Given the description of an element on the screen output the (x, y) to click on. 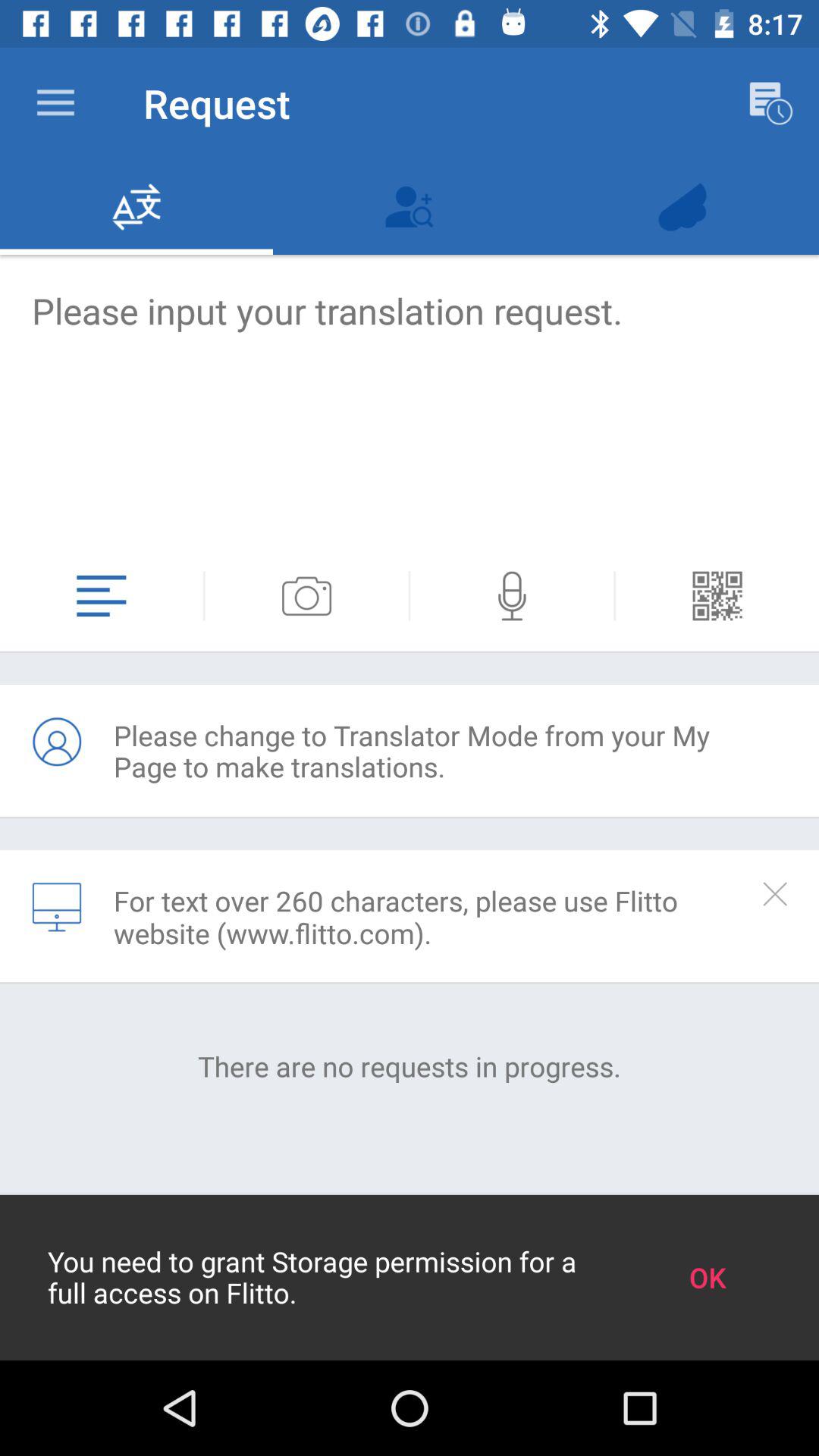
select speaker (511, 596)
